Given the description of an element on the screen output the (x, y) to click on. 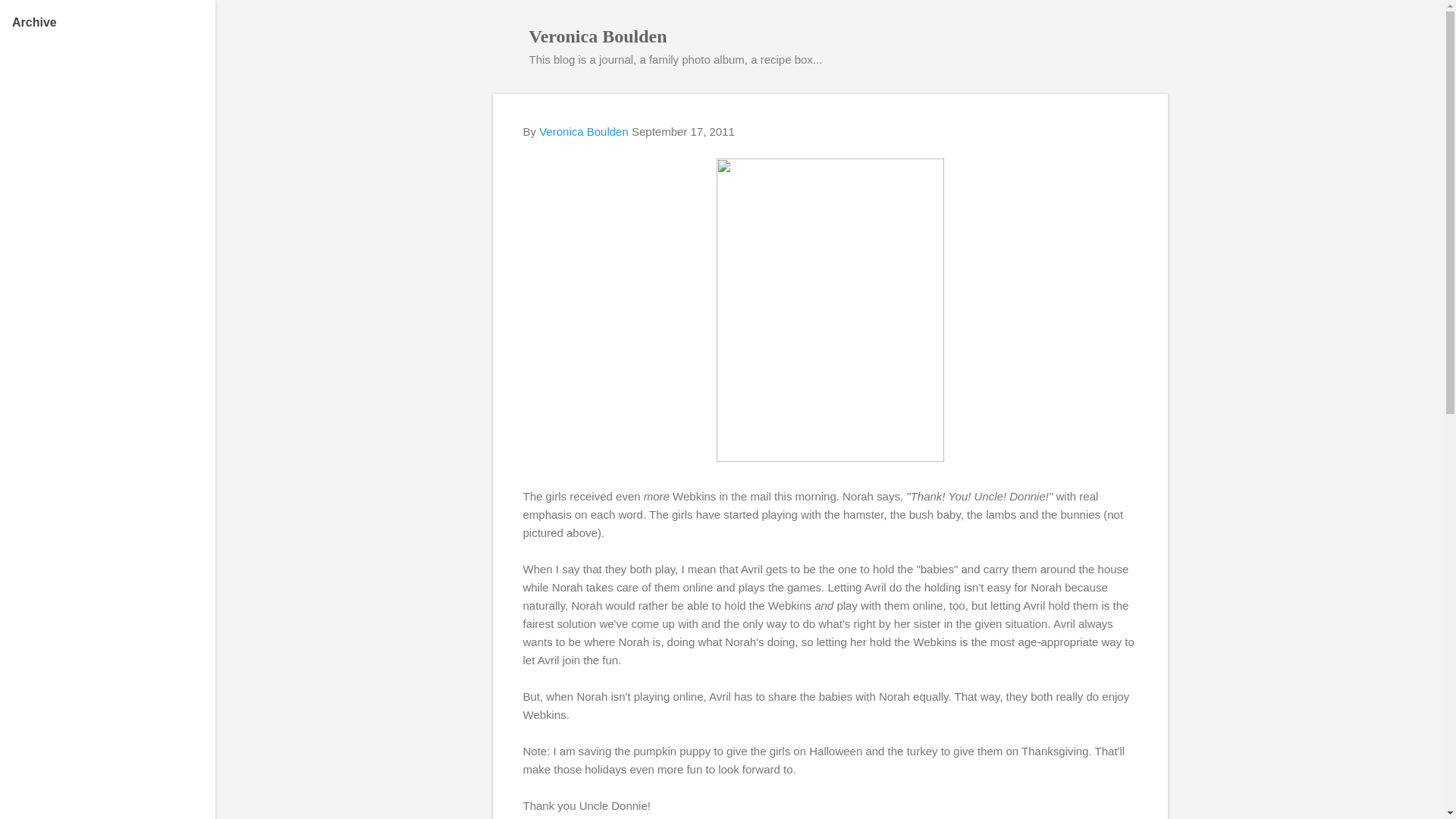
September 17, 2011 (683, 131)
Veronica Boulden (583, 131)
author profile (583, 131)
Veronica Boulden (597, 35)
permanent link (683, 131)
